Given the description of an element on the screen output the (x, y) to click on. 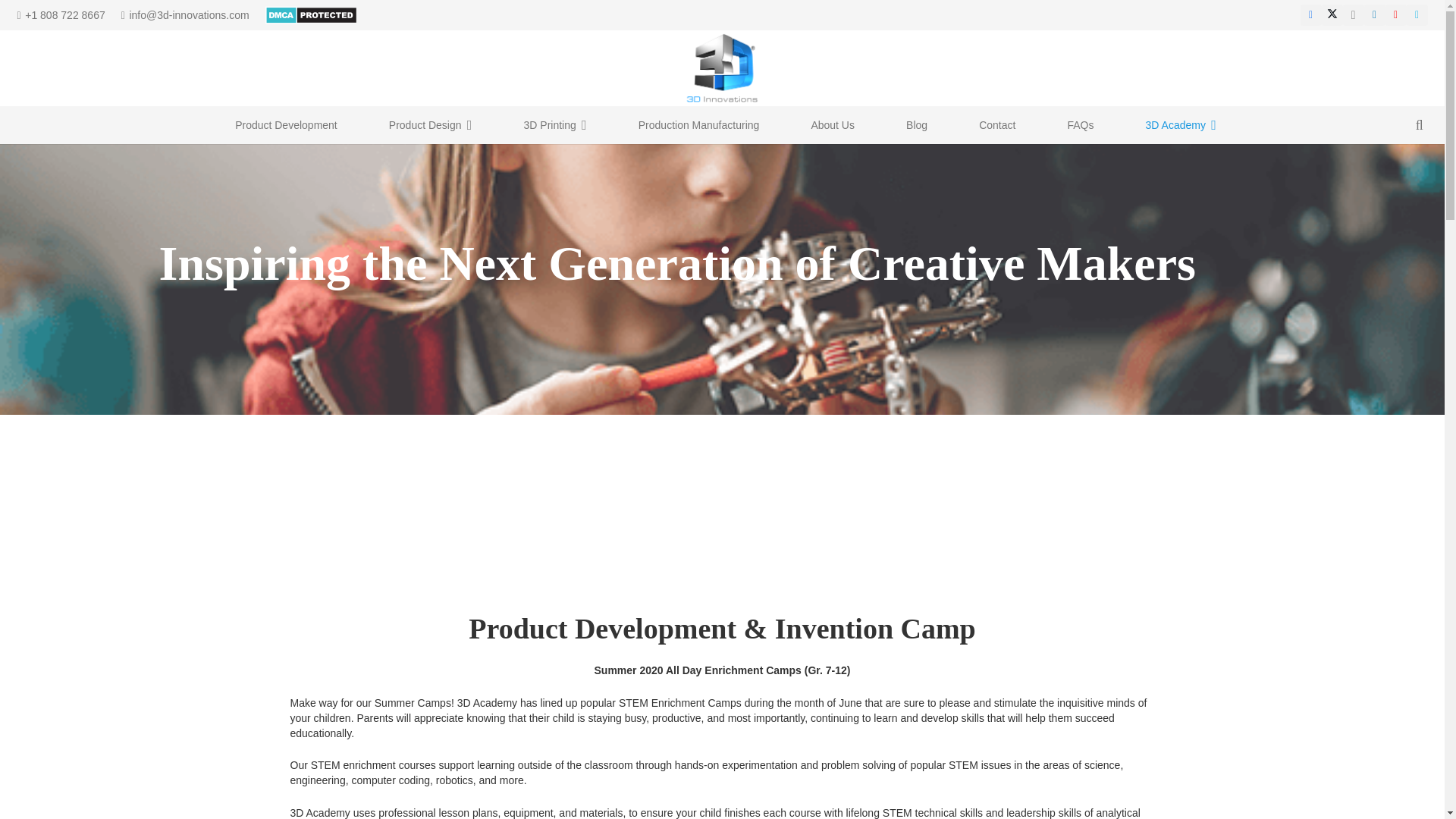
Contact (996, 125)
3D Academy (1180, 125)
Blog (916, 125)
Vimeo (1416, 14)
LinkedIn (1373, 14)
Instagram (1352, 14)
Product Development (285, 125)
Product Design (430, 125)
YouTube (1395, 14)
DMCA.com Protection Status (310, 14)
Twitter (1331, 14)
Production Manufacturing (699, 125)
About Us (832, 125)
FAQs (1080, 125)
3D Printing (555, 125)
